Given the description of an element on the screen output the (x, y) to click on. 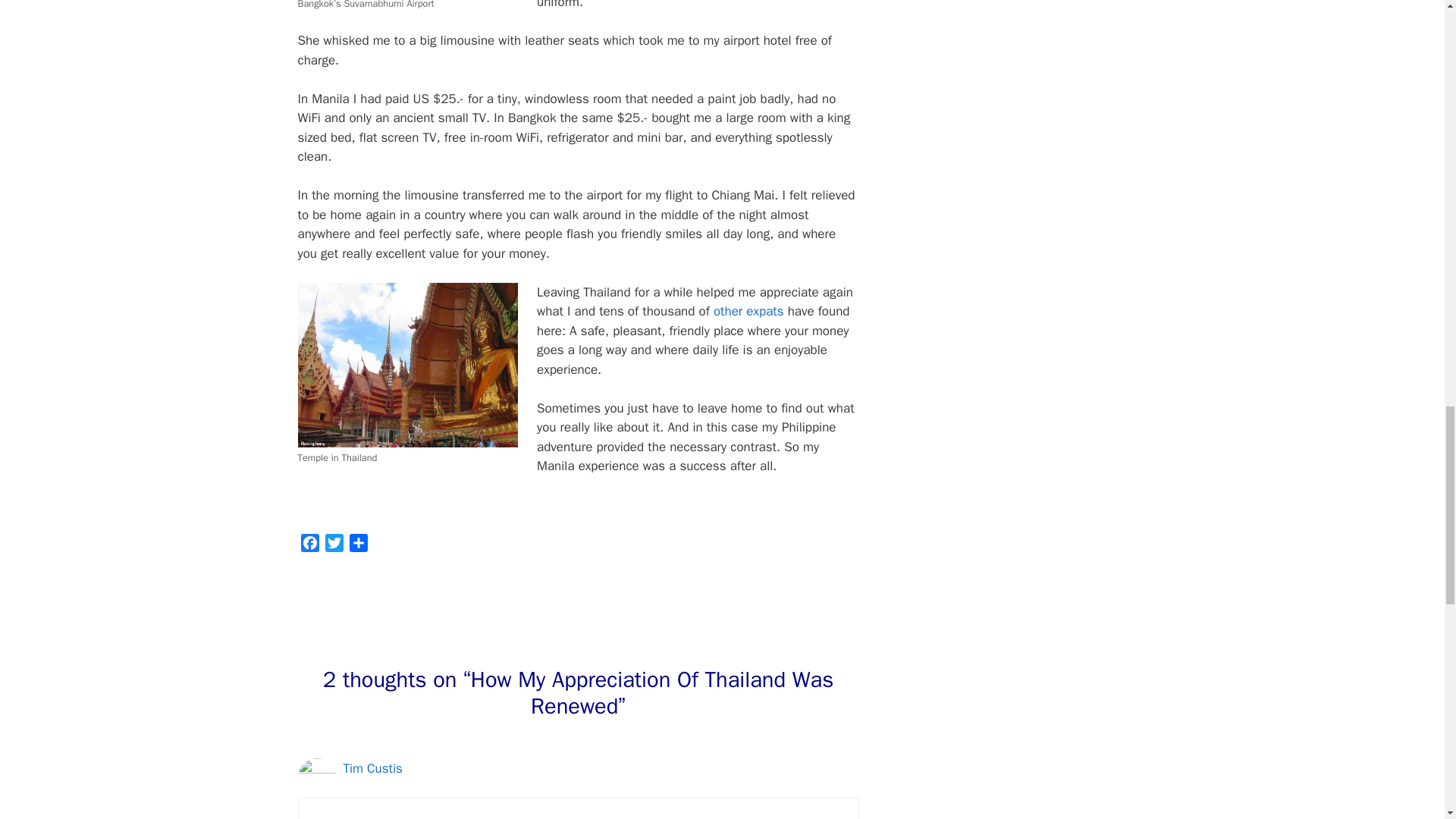
Facebook (309, 545)
Facebook (309, 545)
Temple in Thailand (406, 364)
Tim Custis (371, 768)
Twitter (333, 545)
Twitter (333, 545)
other expats (748, 311)
